Given the description of an element on the screen output the (x, y) to click on. 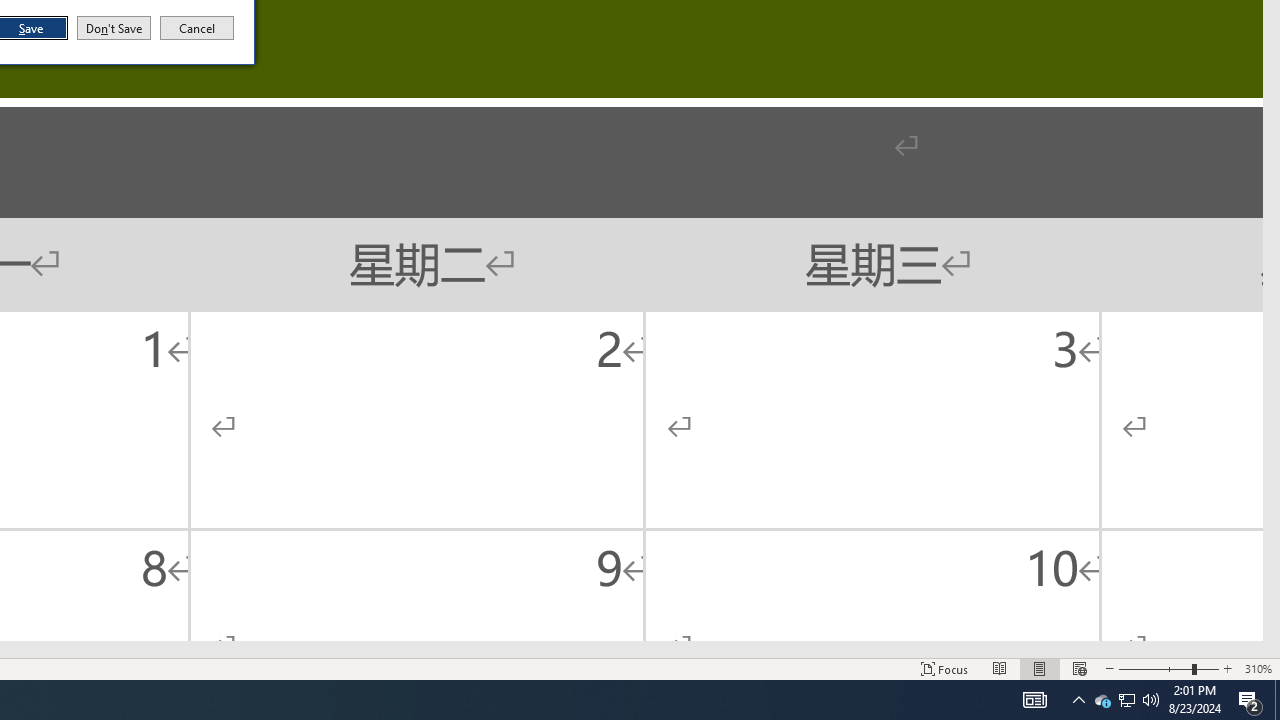
Action Center, 2 new notifications (1250, 699)
Zoom (1168, 668)
